Given the description of an element on the screen output the (x, y) to click on. 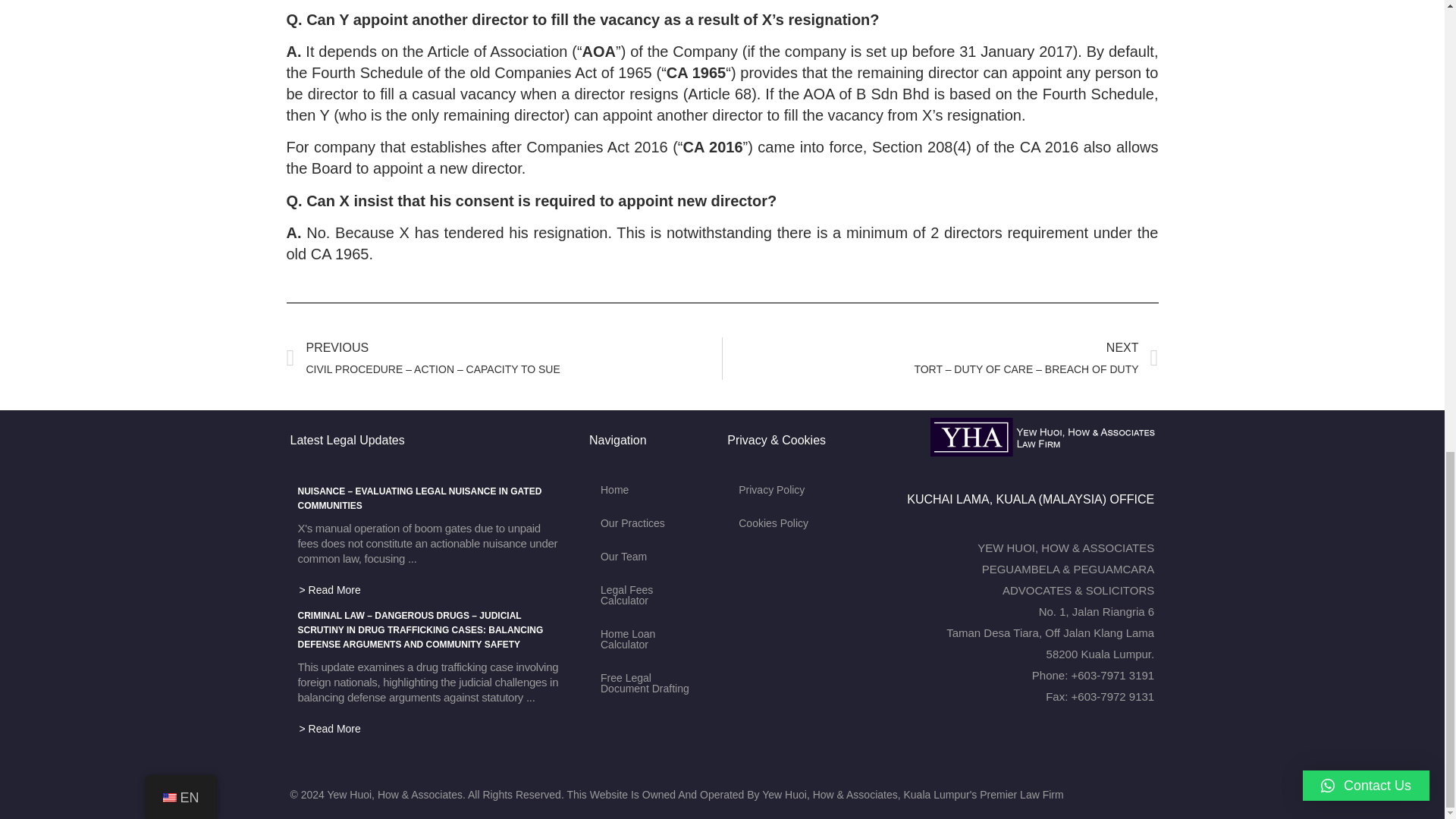
Home Loan Calculator (650, 638)
Free Legal Document Drafting (650, 682)
Our Practices (650, 522)
Home (650, 489)
Legal Fees Calculator (650, 595)
Our Team (650, 556)
